Given the description of an element on the screen output the (x, y) to click on. 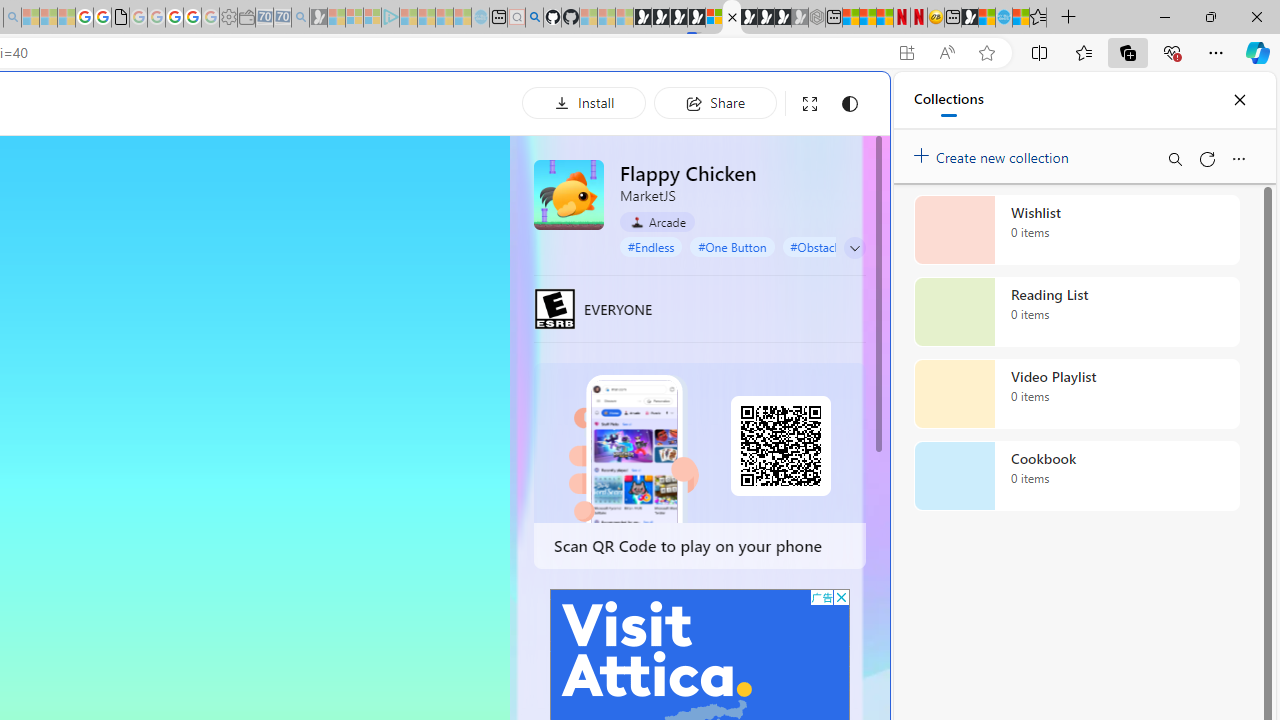
World - MSN (986, 17)
Search or enter web address (343, 191)
More options menu (1238, 158)
Wishlist collection, 0 items (1076, 229)
